Given the description of an element on the screen output the (x, y) to click on. 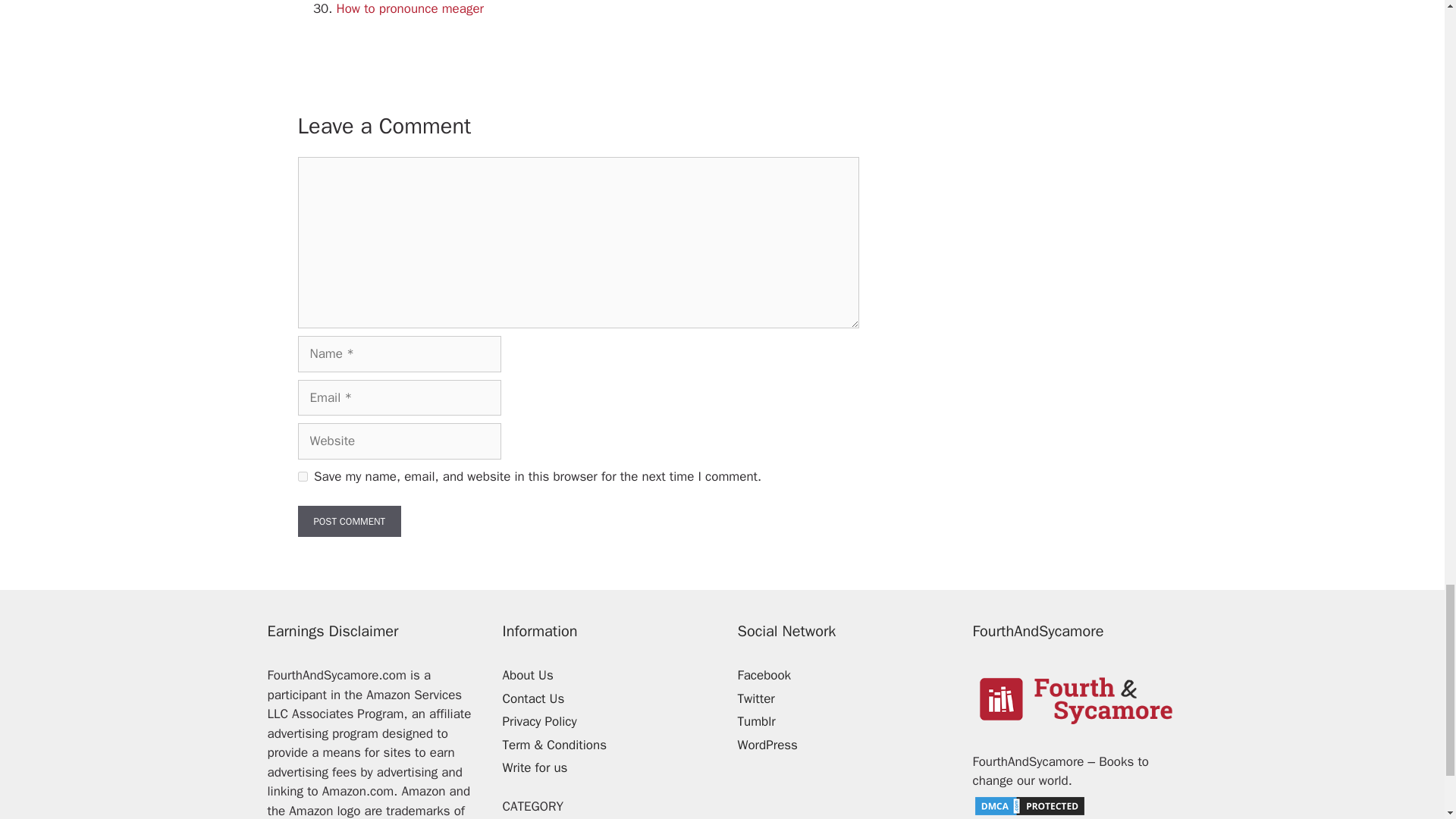
Post Comment (349, 521)
DMCA.com Protection Status (1029, 812)
yes (302, 476)
